Given the description of an element on the screen output the (x, y) to click on. 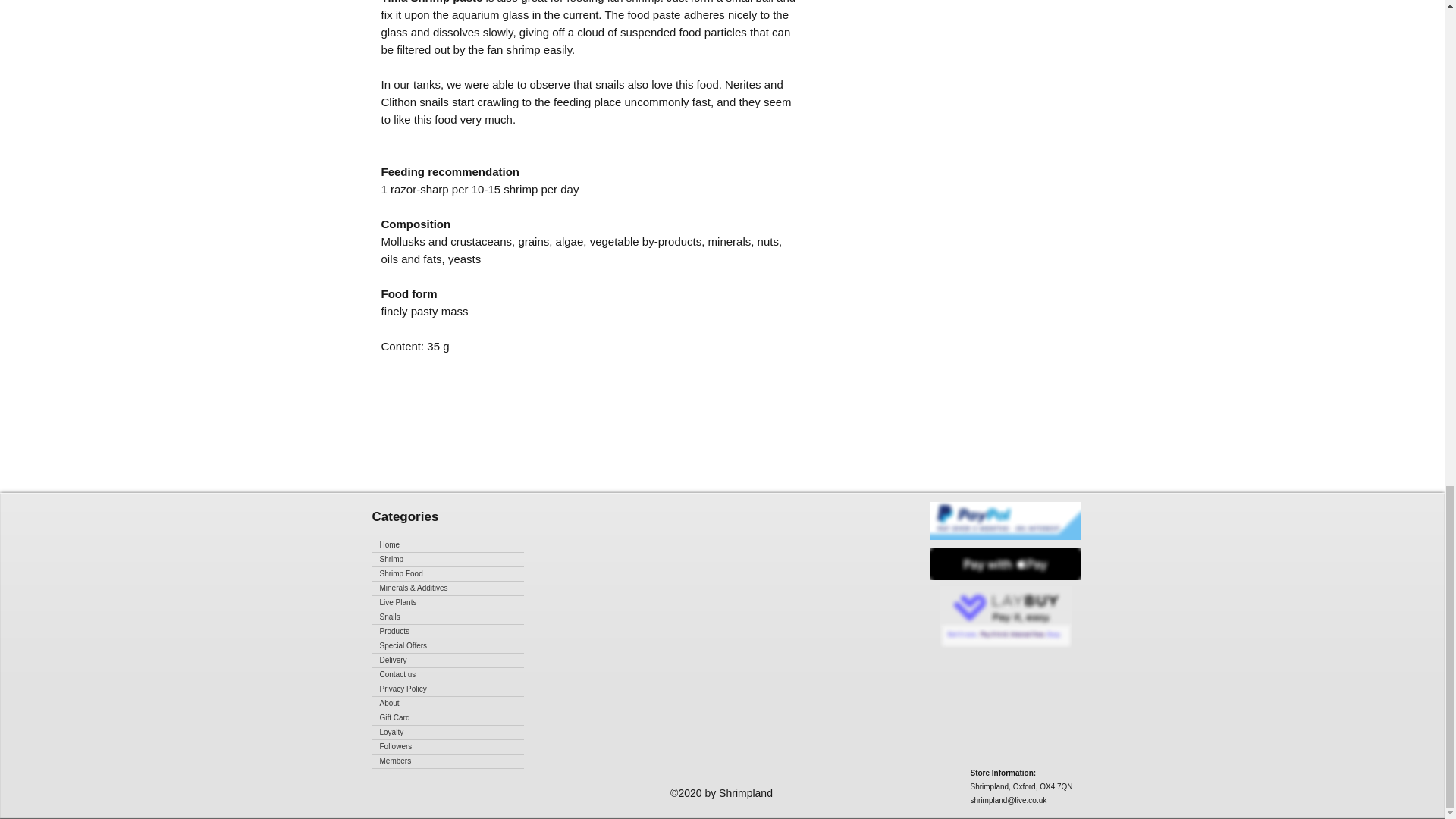
Home (446, 545)
Shrimp (446, 559)
